Given the description of an element on the screen output the (x, y) to click on. 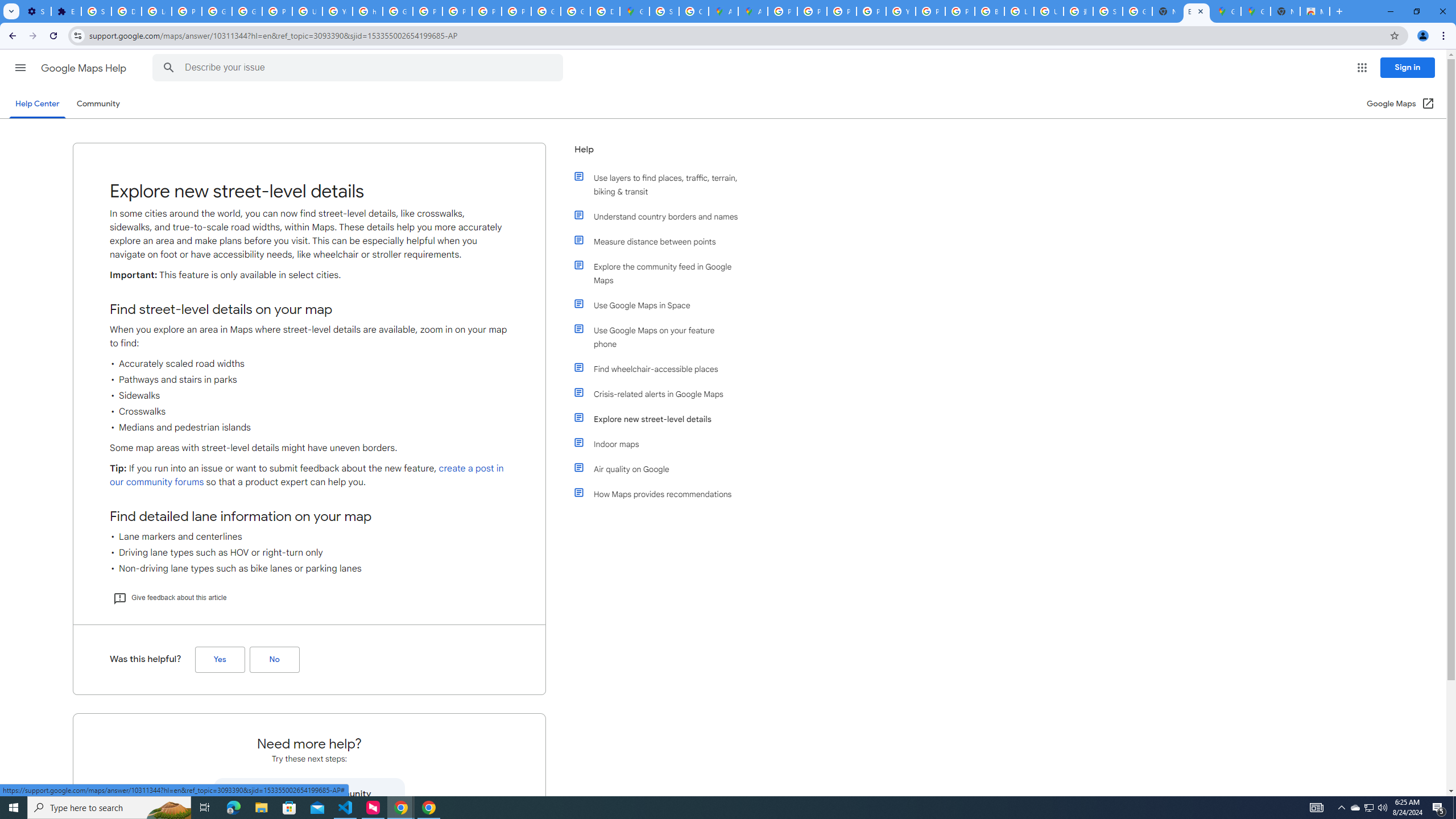
Settings - On startup (36, 11)
Give feedback about this article (169, 597)
Crisis-related alerts in Google Maps (661, 394)
Measure distance between points (661, 241)
Indoor maps (661, 444)
